Given the description of an element on the screen output the (x, y) to click on. 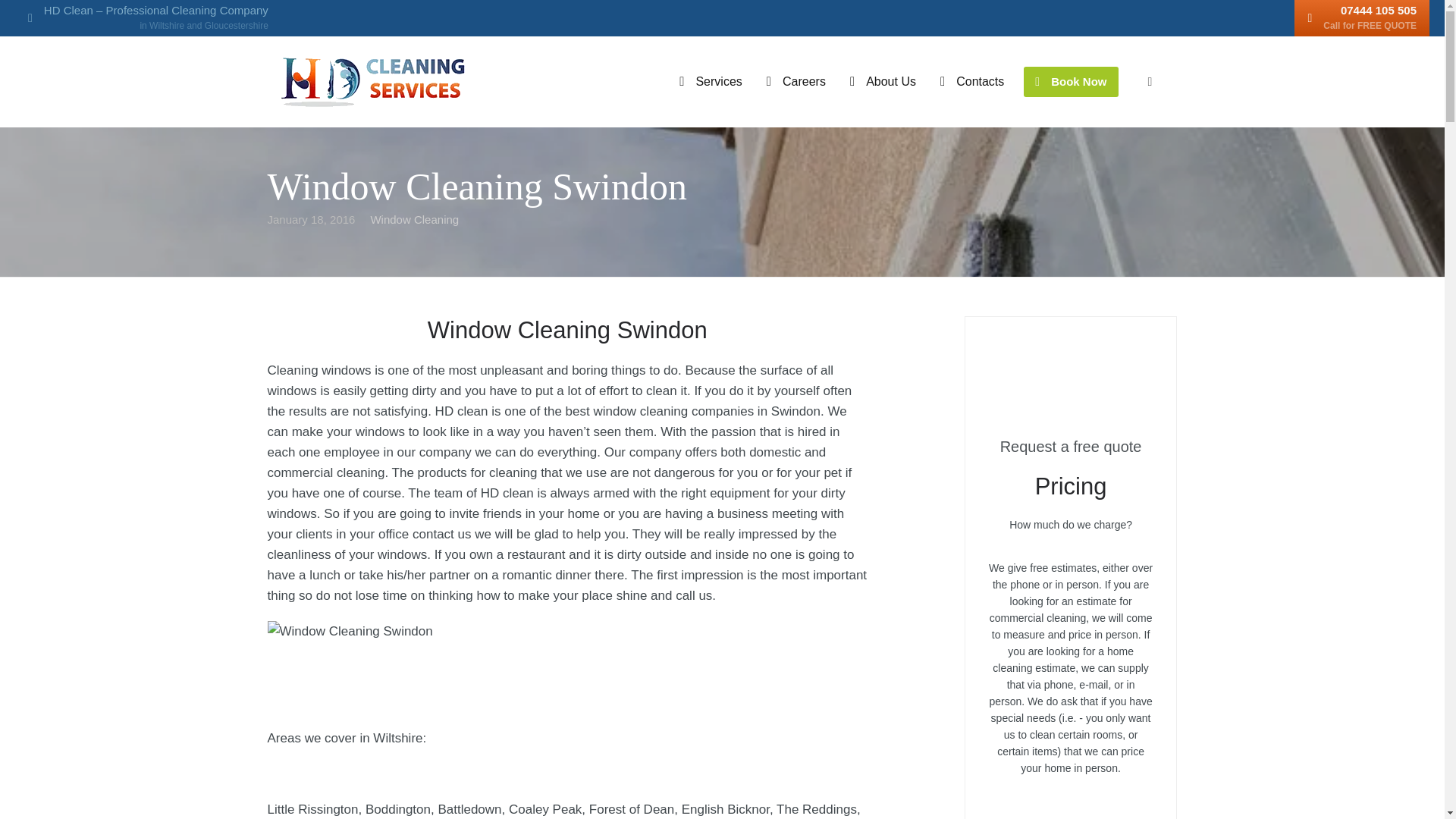
Book Now (1070, 81)
Window Cleaning (413, 219)
HD Clean (373, 81)
Careers (796, 81)
Services (1361, 18)
Search (710, 81)
About Us (13, 14)
Contacts (883, 81)
